Given the description of an element on the screen output the (x, y) to click on. 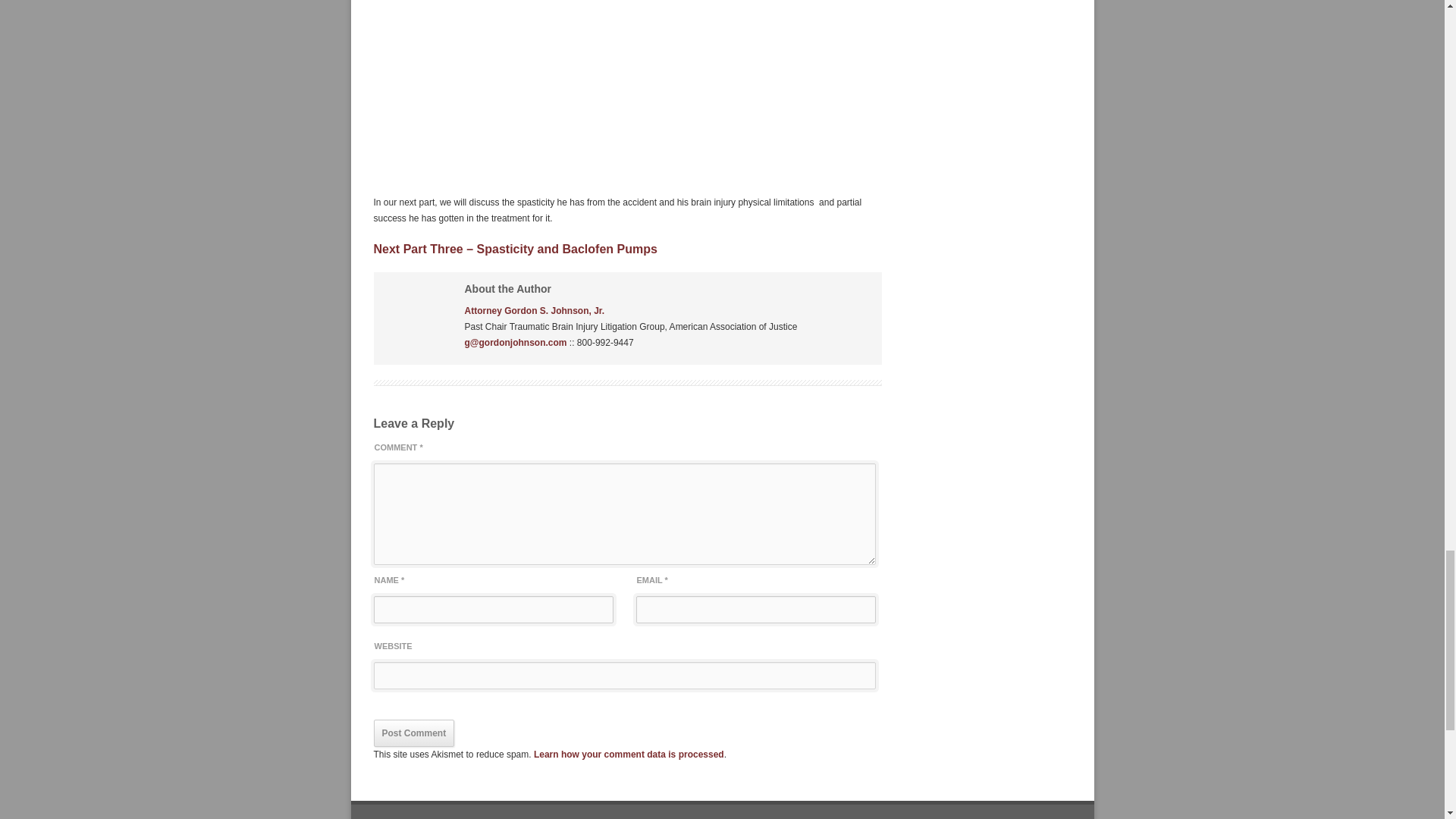
Learn how your comment data is processed (628, 754)
Post Comment (413, 732)
Attorney Gordon S. Johnson, Jr. (534, 310)
Post Comment (413, 732)
